Given the description of an element on the screen output the (x, y) to click on. 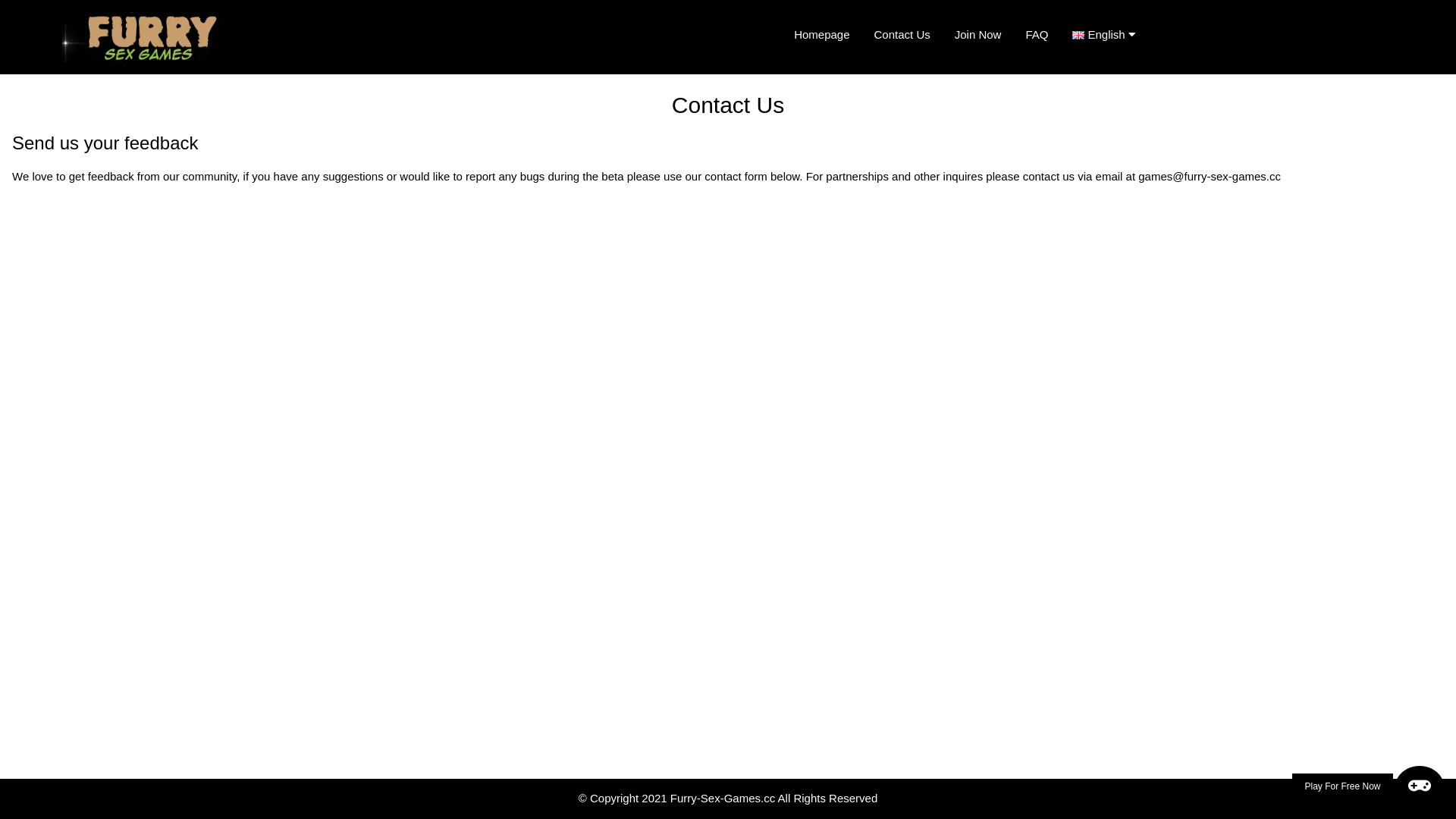
Contact Us Element type: text (902, 35)
Homepage Element type: text (821, 35)
FAQ Element type: text (1036, 35)
Play For Free Now Element type: text (1367, 785)
English Element type: text (1109, 35)
Join Now Element type: text (977, 35)
